Given the description of an element on the screen output the (x, y) to click on. 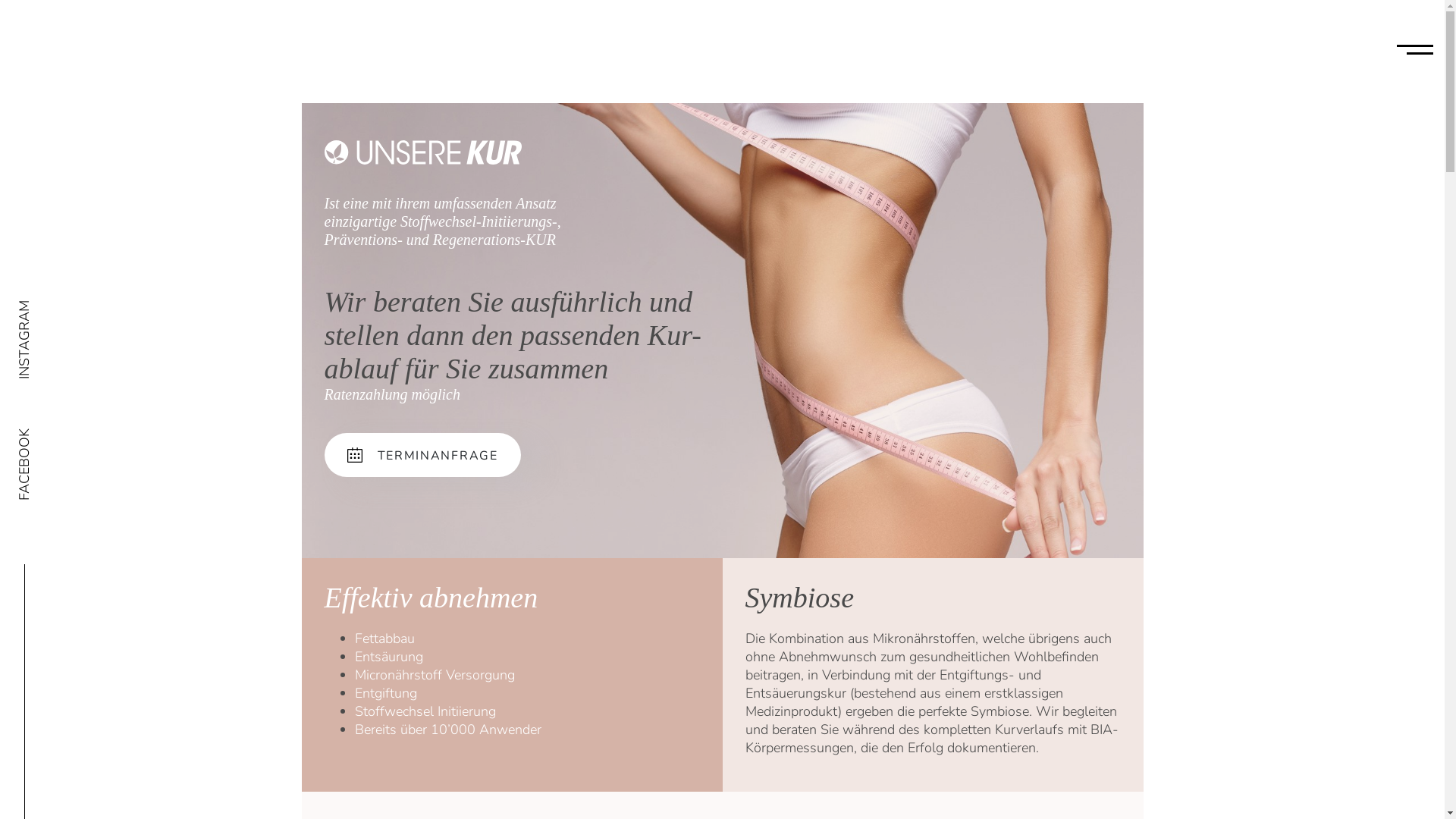
TERMINANFRAGE Element type: text (422, 454)
FACEBOOK Element type: text (51, 437)
Los schicken Element type: text (428, 774)
INSTAGRAM Element type: text (54, 309)
